Given the description of an element on the screen output the (x, y) to click on. 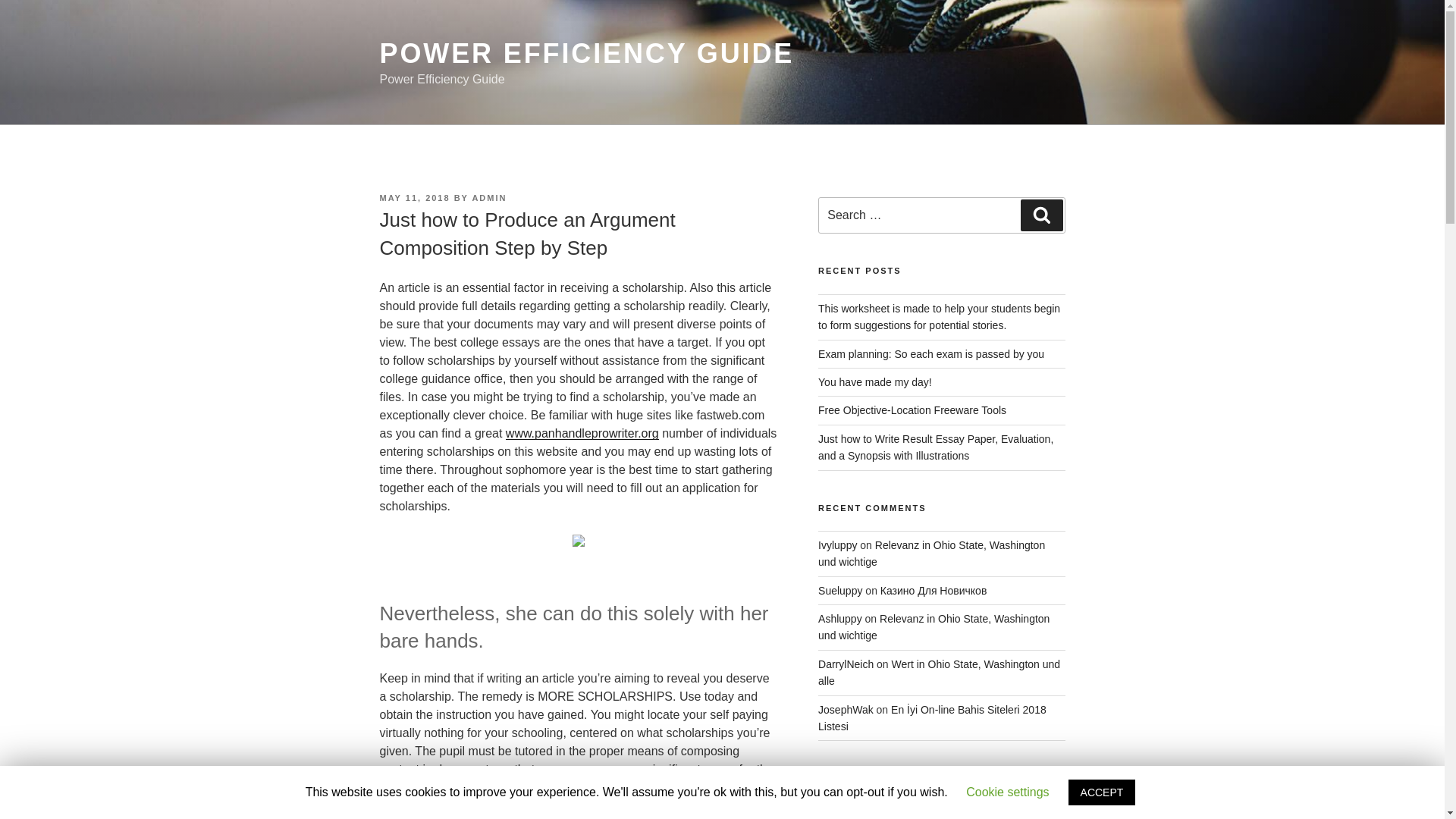
Ashluppy (839, 618)
JosephWak (845, 709)
You have made my day! (874, 381)
Relevanz in Ohio State, Washington und wichtige (933, 626)
ADMIN (488, 197)
Wert in Ohio State, Washington und alle (938, 672)
DarrylNeich (845, 664)
Ivyluppy (837, 544)
Sueluppy (839, 590)
www.panhandleprowriter.org (582, 432)
Exam planning: So each exam is passed by you (930, 354)
MAY 11, 2018 (413, 197)
Free Objective-Location Freeware Tools (912, 410)
